Given the description of an element on the screen output the (x, y) to click on. 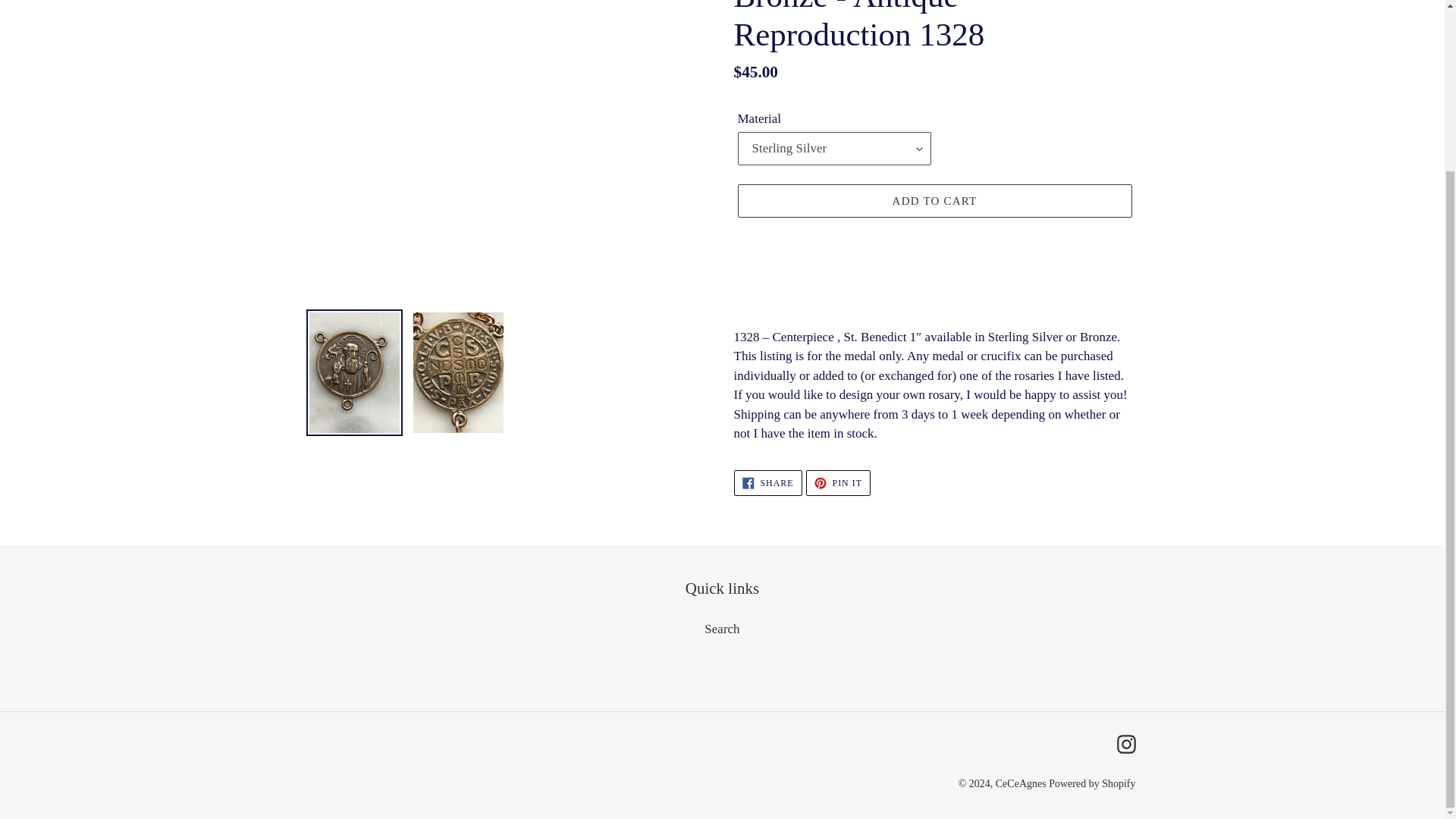
Instagram (1125, 743)
ADD TO CART (933, 200)
CeCeAgnes (1021, 783)
Powered by Shopify (767, 483)
Search (1091, 783)
